Given the description of an element on the screen output the (x, y) to click on. 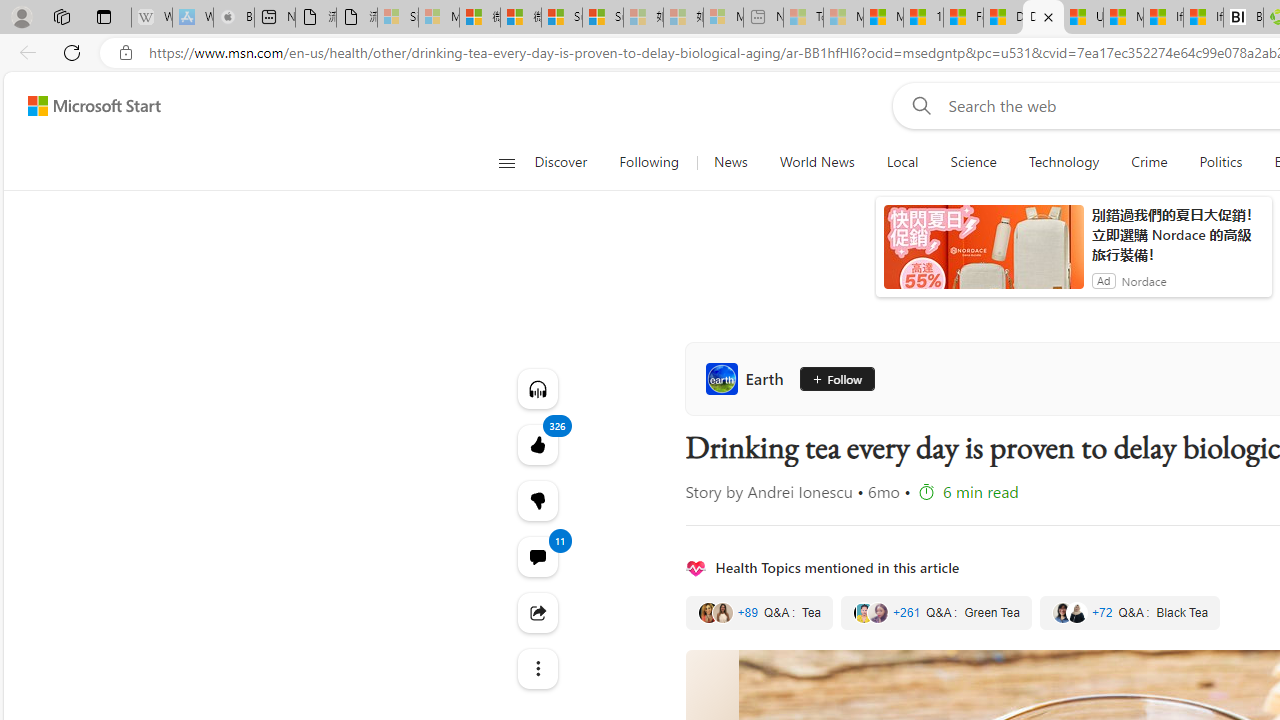
Refresh (72, 52)
Share this story (537, 612)
Close tab (1048, 16)
Open navigation menu (506, 162)
World News (816, 162)
Marine life - MSN - Sleeping (843, 17)
Nordace (1144, 280)
Crime (1149, 162)
Skip to footer (82, 105)
US Heat Deaths Soared To Record High Last Year (1083, 17)
Politics (1220, 162)
